Given the description of an element on the screen output the (x, y) to click on. 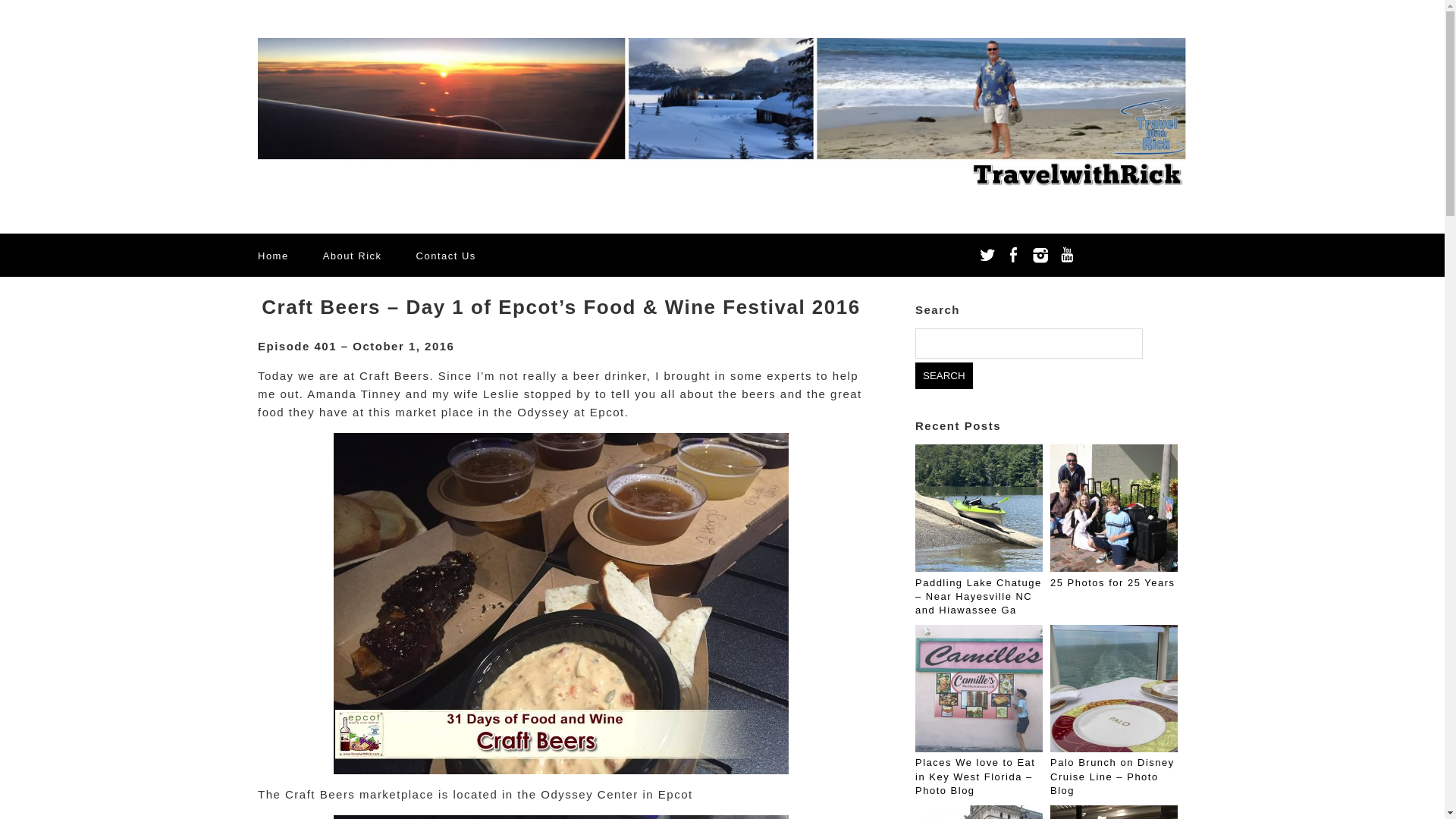
Home (272, 255)
Search (943, 375)
Contact Us (446, 255)
About Rick (352, 255)
Search (943, 375)
25 Photos for 25 Years (1111, 582)
